Given the description of an element on the screen output the (x, y) to click on. 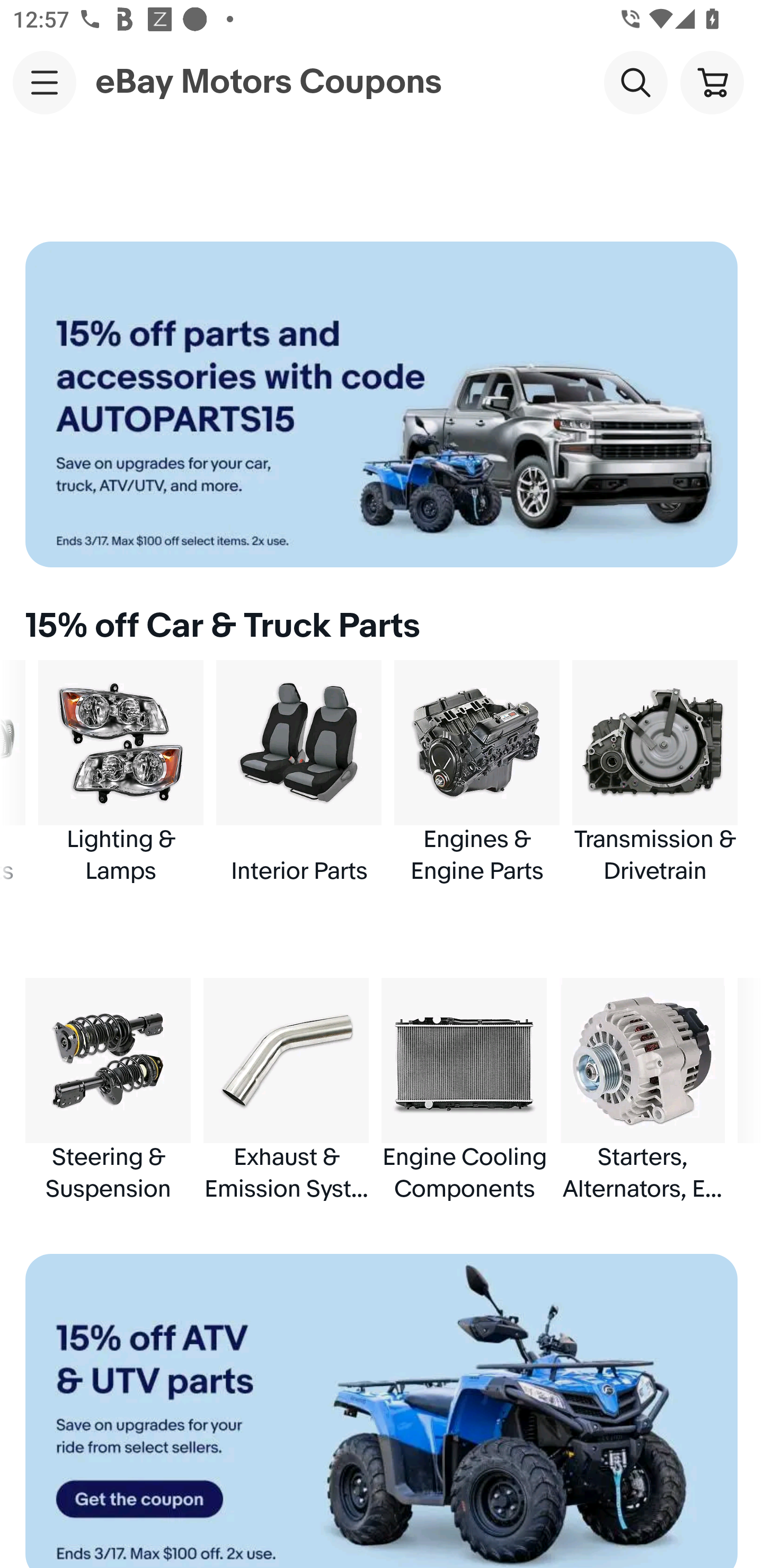
Main navigation, open (44, 82)
Search (635, 81)
Cart button shopping cart (711, 81)
15% off parts & accessories for your ride (381, 404)
Lighting & Lamps (120, 772)
Interior Parts (298, 772)
Engines & Engine Parts (476, 772)
Transmission & Drivetrain (654, 772)
Steering & Suspension (107, 1090)
Exhaust & Emission Systems (285, 1090)
Engine Cooling Components (464, 1090)
Starters, Alternators, ECUs & Wiring (641, 1090)
15% off atv and utv parts (381, 1411)
